Given the description of an element on the screen output the (x, y) to click on. 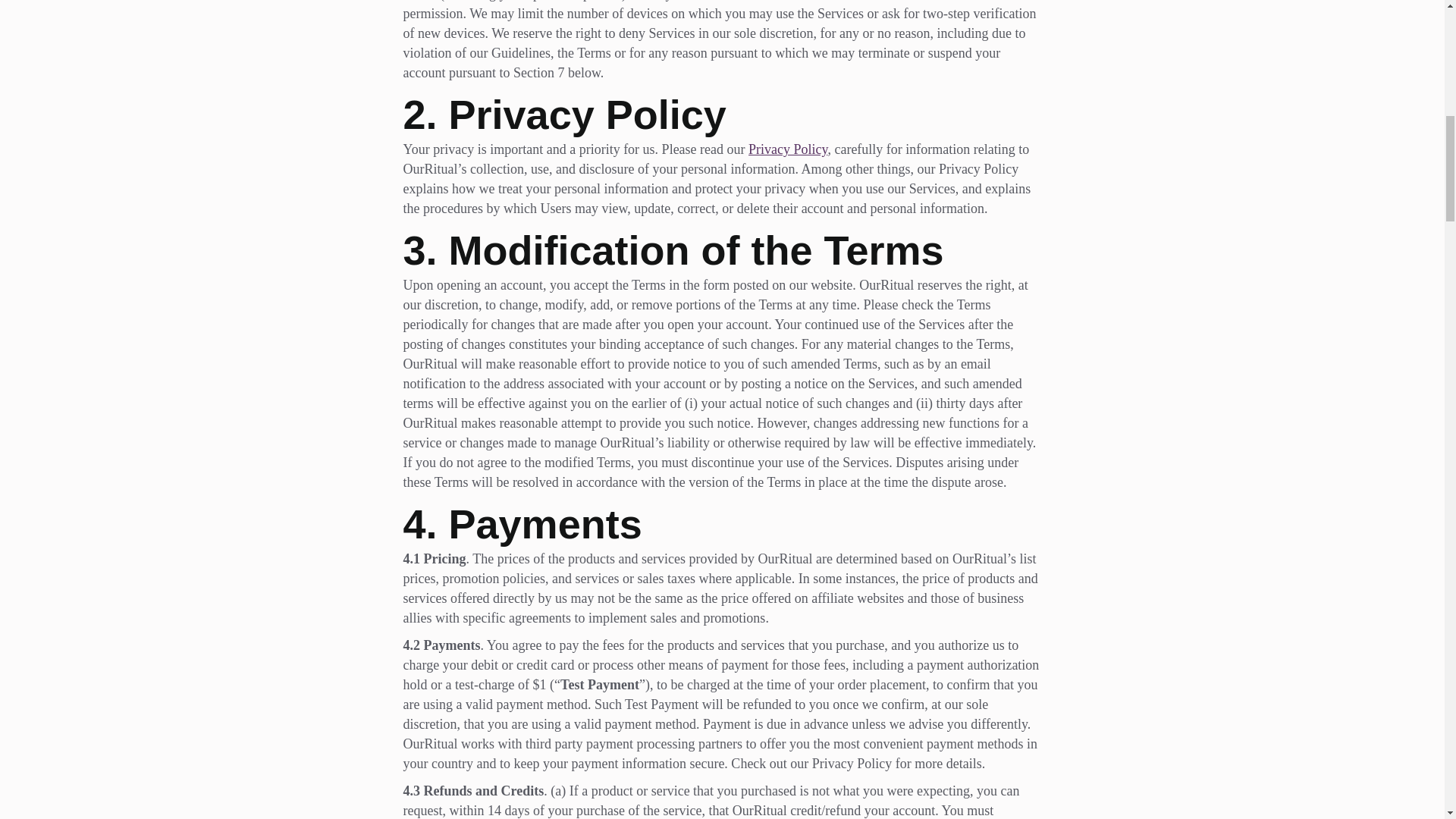
Privacy Policy (787, 149)
